Given the description of an element on the screen output the (x, y) to click on. 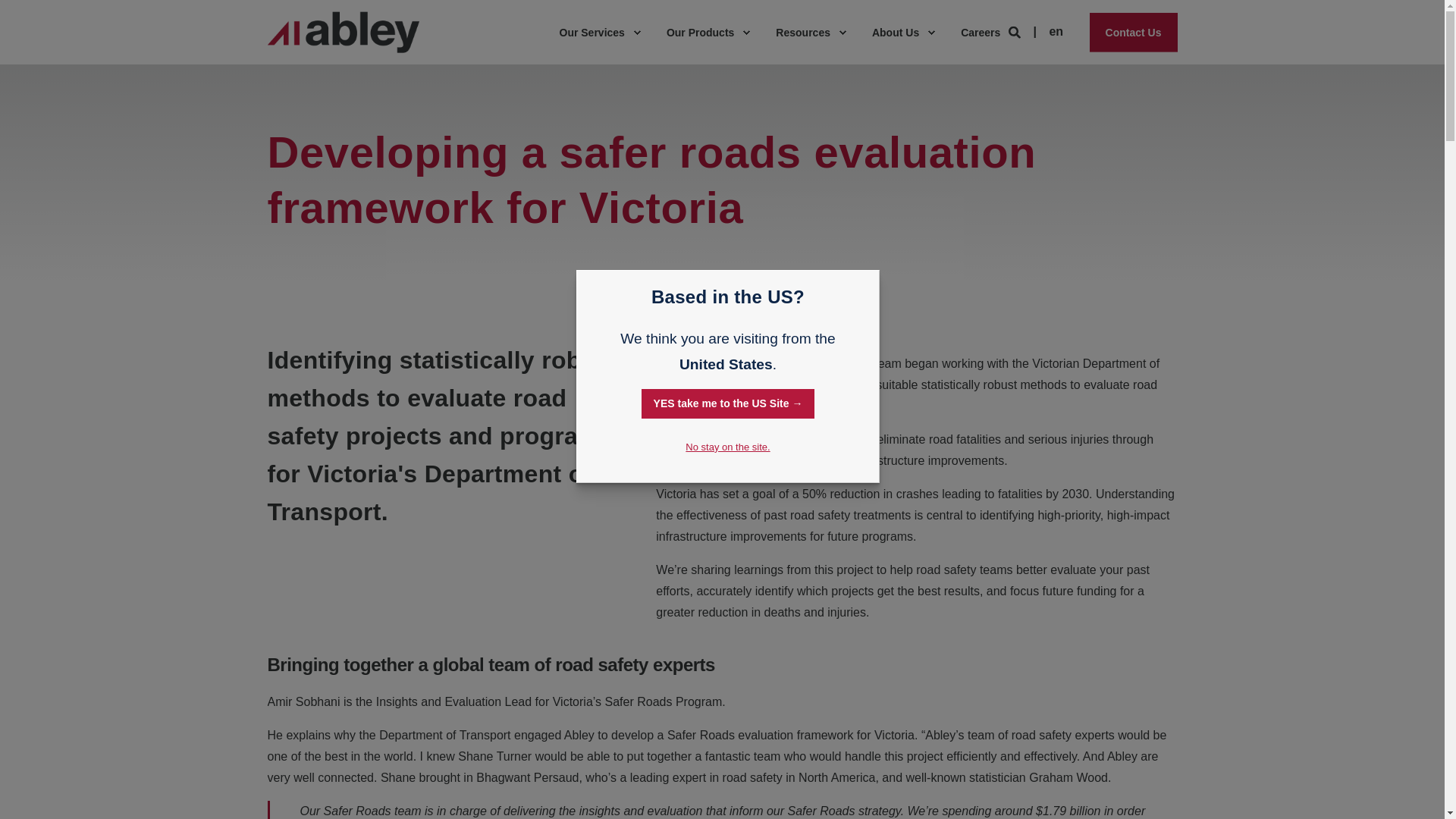
logo (342, 32)
Our Services (593, 32)
